Given the description of an element on the screen output the (x, y) to click on. 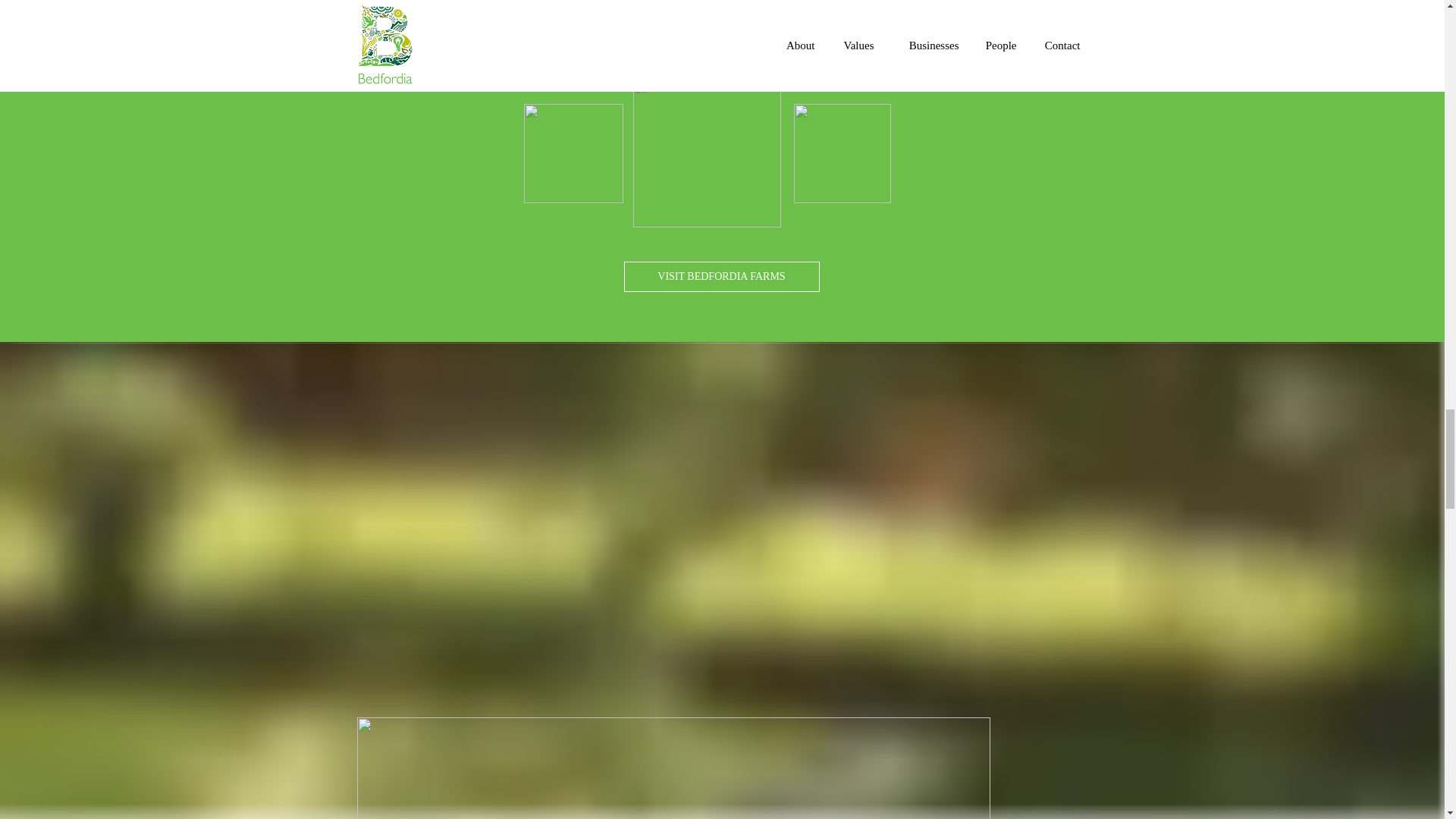
VISIT BEDFORDIA FARMS (720, 276)
